Given the description of an element on the screen output the (x, y) to click on. 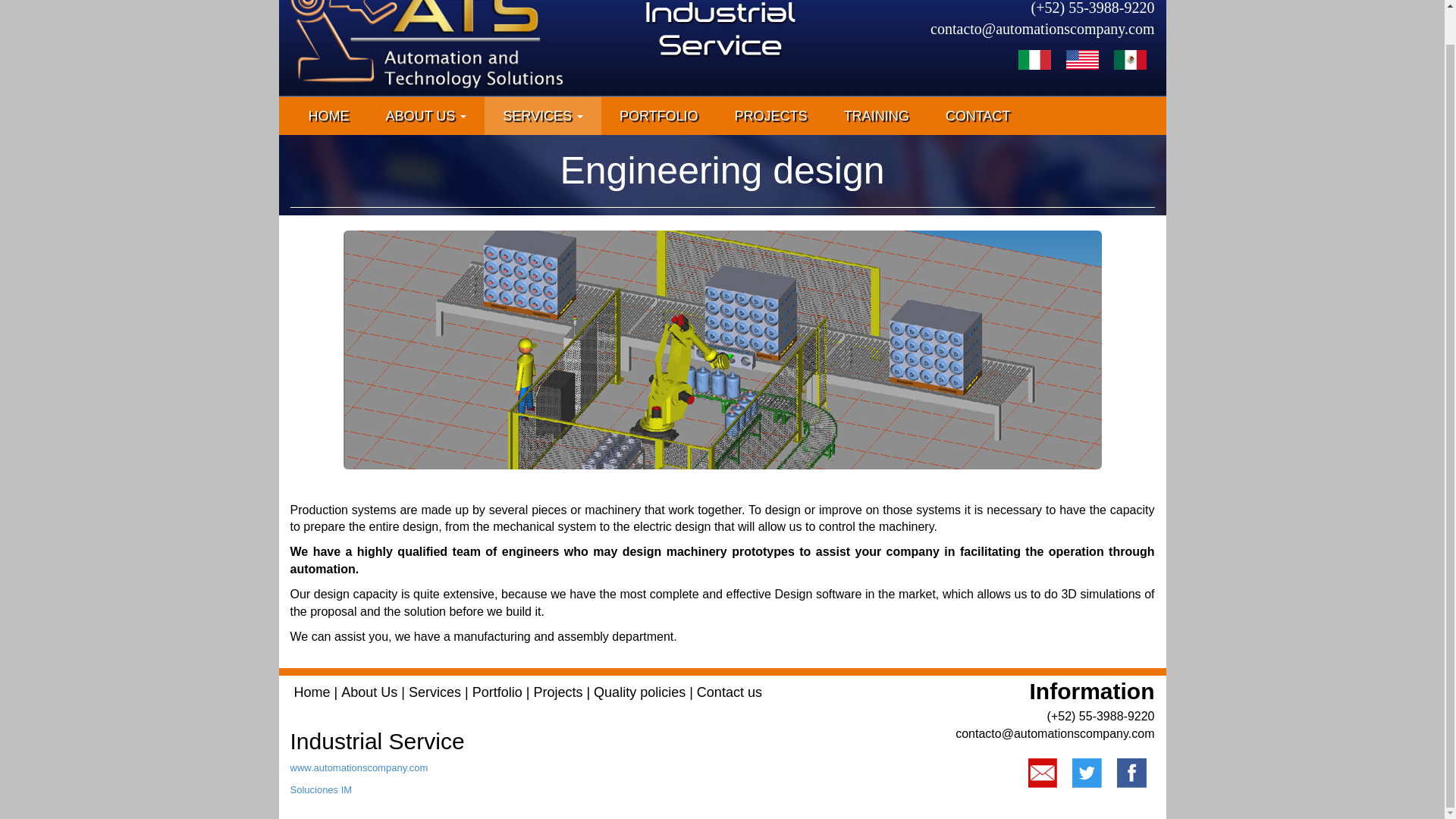
Services (435, 692)
SERVICES (542, 116)
Contact us (729, 692)
ABOUT US (425, 116)
Quality policies (639, 692)
Projects (557, 692)
Spanish (1130, 58)
About Us (368, 692)
Soluciones IM (320, 789)
English (1082, 58)
www.automationscompany.com (358, 767)
Italian (1034, 58)
PORTFOLIO (658, 116)
Portfolio (496, 692)
Home (312, 692)
